Given the description of an element on the screen output the (x, y) to click on. 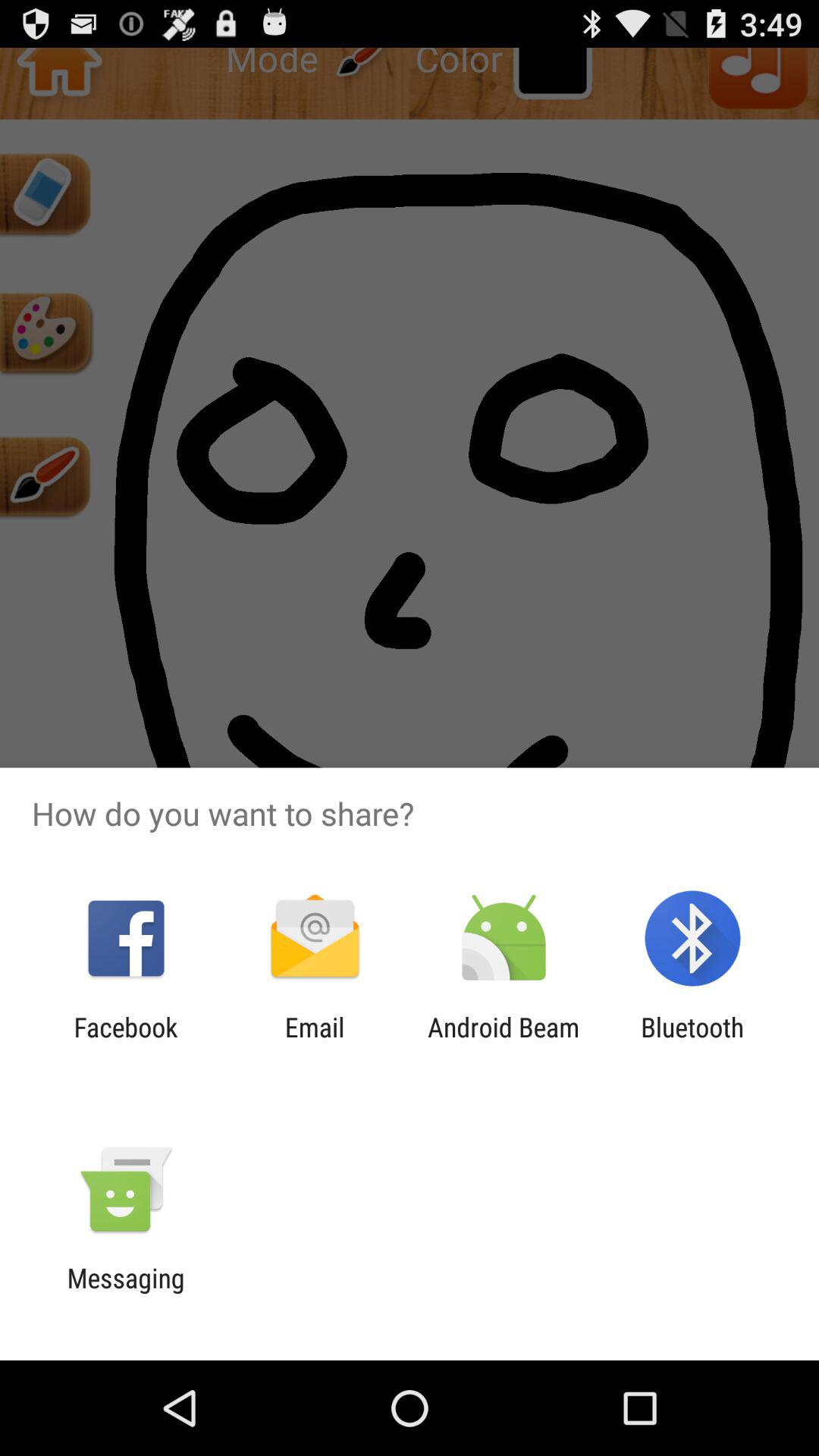
select the app to the left of bluetooth (503, 1042)
